Given the description of an element on the screen output the (x, y) to click on. 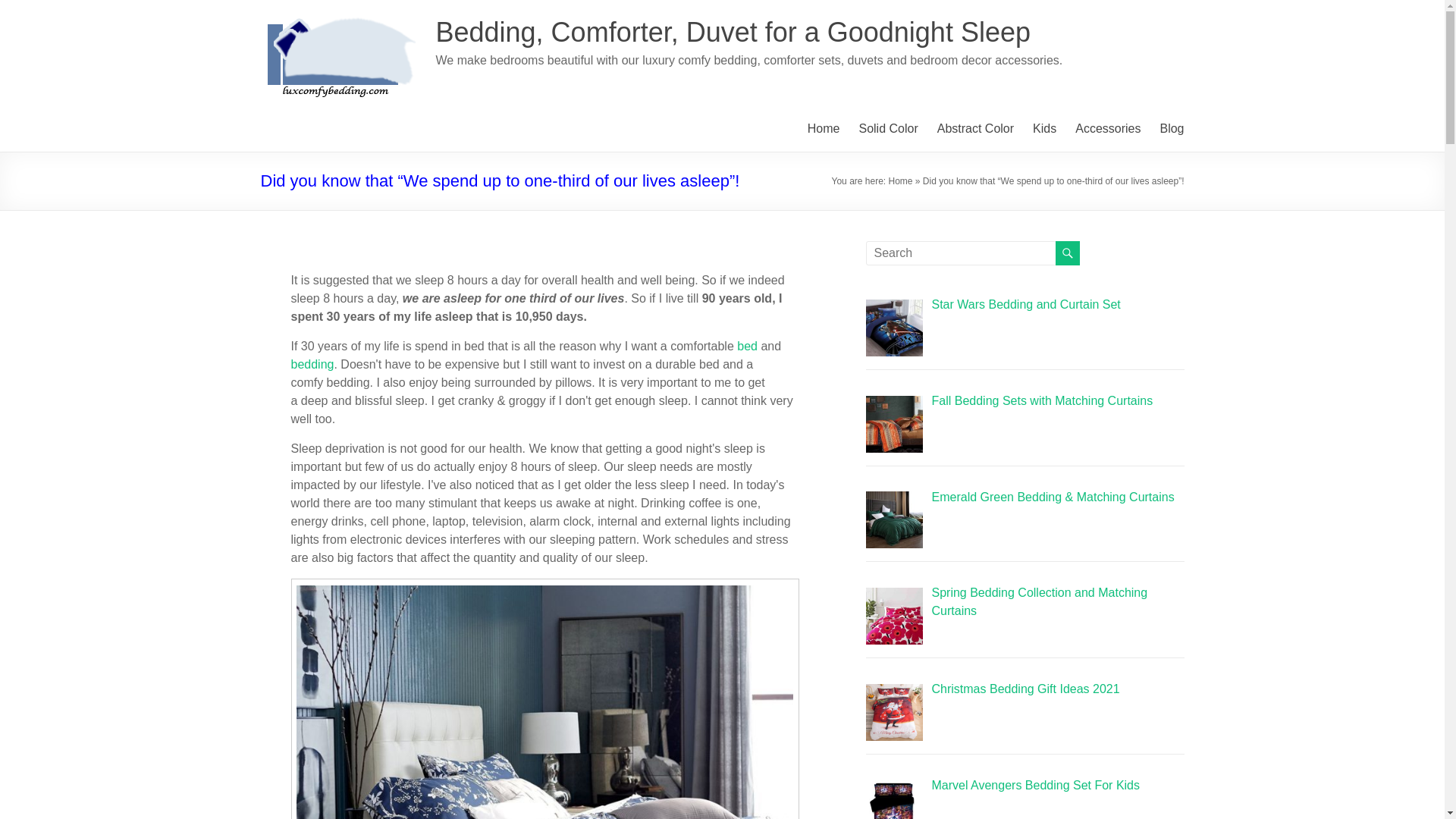
Marvel Avengers Bedding Set For Kids (1035, 784)
Abstract Color (975, 128)
Home (900, 181)
Star Wars Bedding and Curtain Set (1025, 304)
Kids (1044, 128)
Home (824, 128)
Solid Color (888, 128)
Blog (1170, 128)
Bedding, Comforter, Duvet for a Goodnight Sleep (732, 31)
bedding (312, 364)
Christmas Bedding Gift Ideas 2021 (1025, 688)
Accessories (1107, 128)
bed (746, 345)
Fall Bedding Sets with Matching Curtains (1042, 400)
Spring Bedding Collection and Matching Curtains (1039, 601)
